Given the description of an element on the screen output the (x, y) to click on. 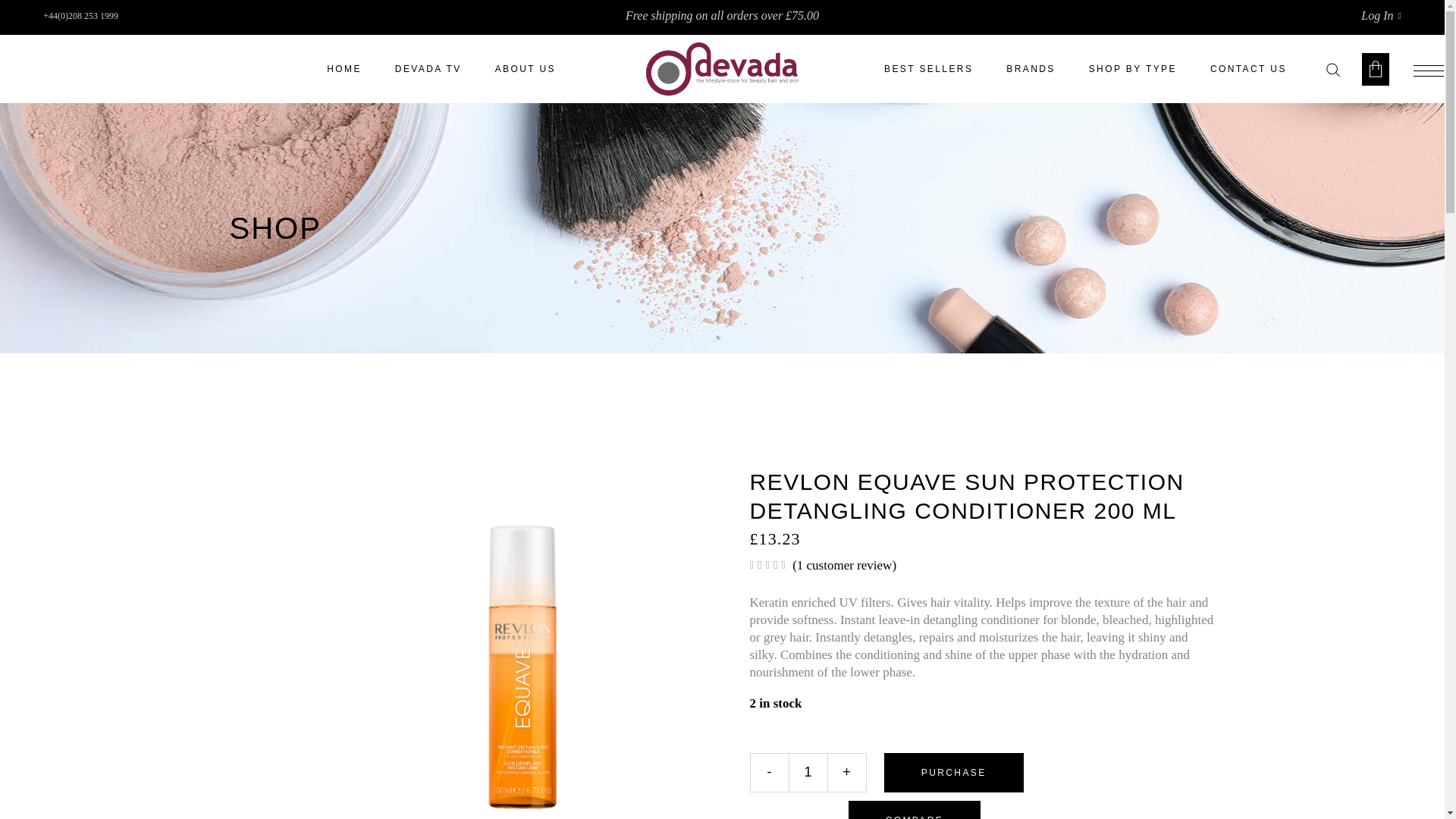
1 (808, 772)
DEVADA TV (428, 69)
HOME (344, 69)
BRANDS (1030, 69)
ABOUT US (525, 69)
BEST SELLERS (928, 69)
Log In (1380, 15)
